Given the description of an element on the screen output the (x, y) to click on. 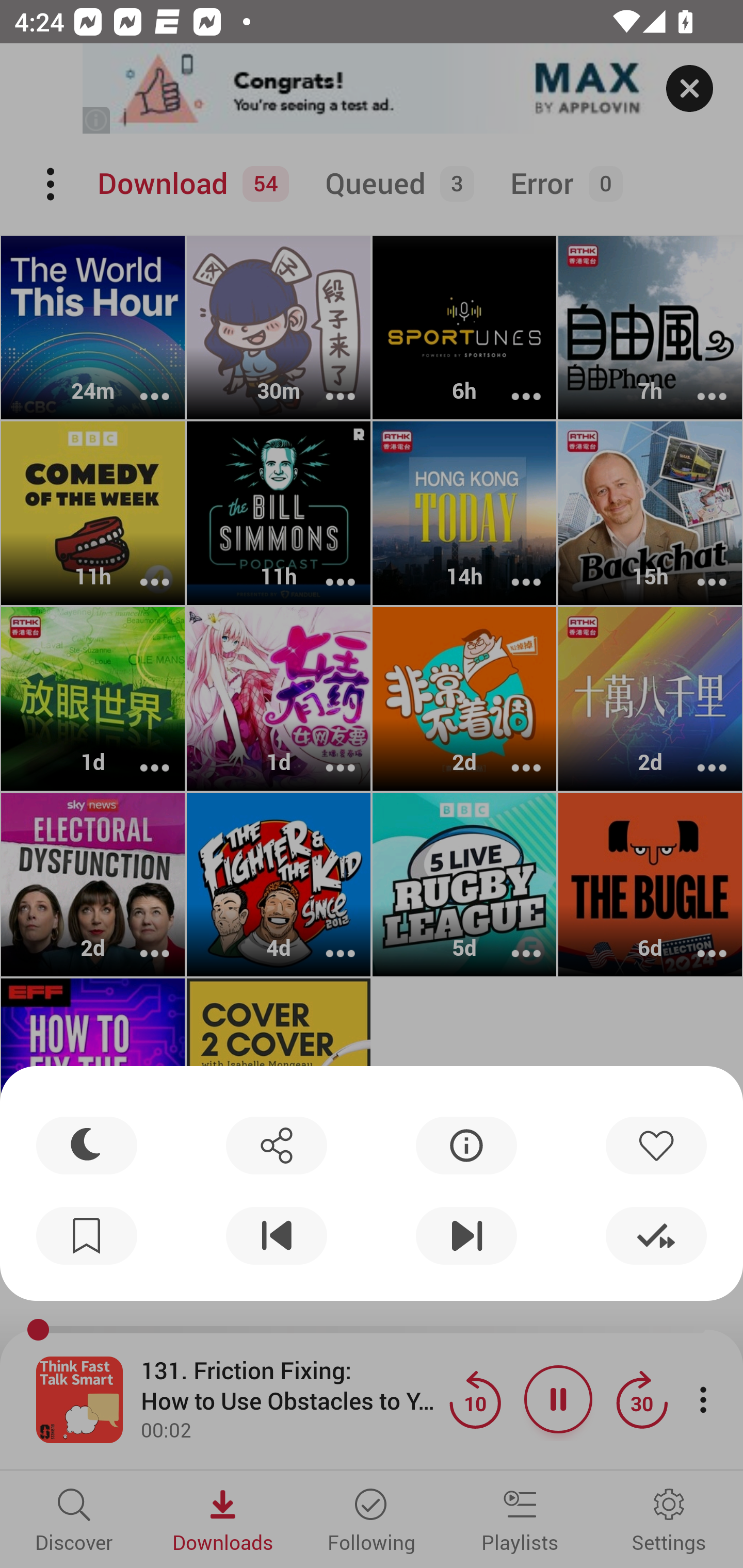
Sleep timer (86, 1145)
Share (275, 1145)
Info (466, 1145)
Like (655, 1145)
New bookmark … (86, 1236)
Previous (275, 1236)
Next (466, 1236)
Mark played and next (655, 1236)
